Given the description of an element on the screen output the (x, y) to click on. 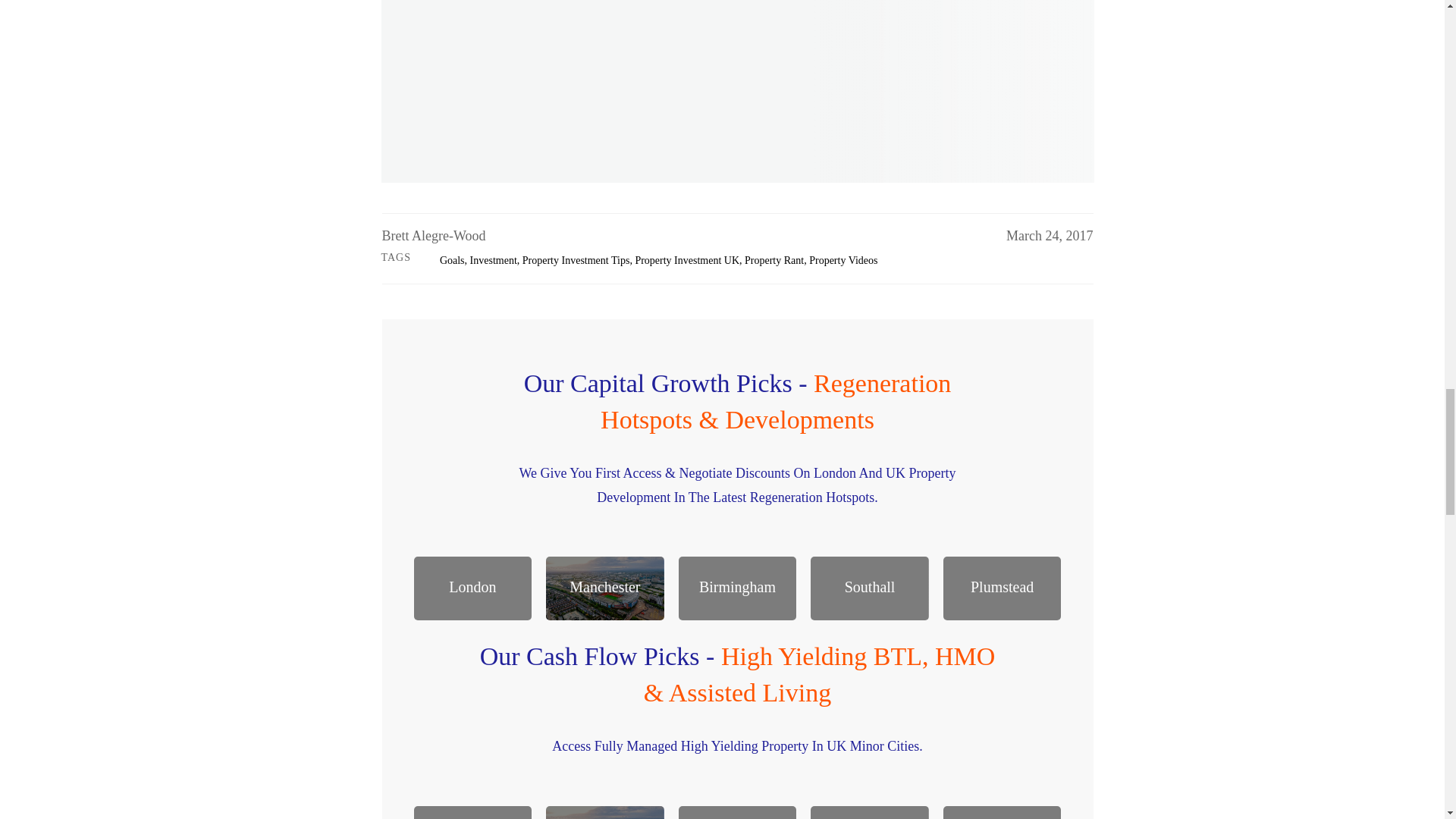
Property Rant (773, 260)
Property Videos (843, 260)
Property Investment Tips (576, 260)
Goals (451, 260)
Property Investment UK (686, 260)
Goals (451, 260)
Investment (493, 260)
Investment (493, 260)
Property Investment Tips (576, 260)
Property Investment UK (686, 260)
